Given the description of an element on the screen output the (x, y) to click on. 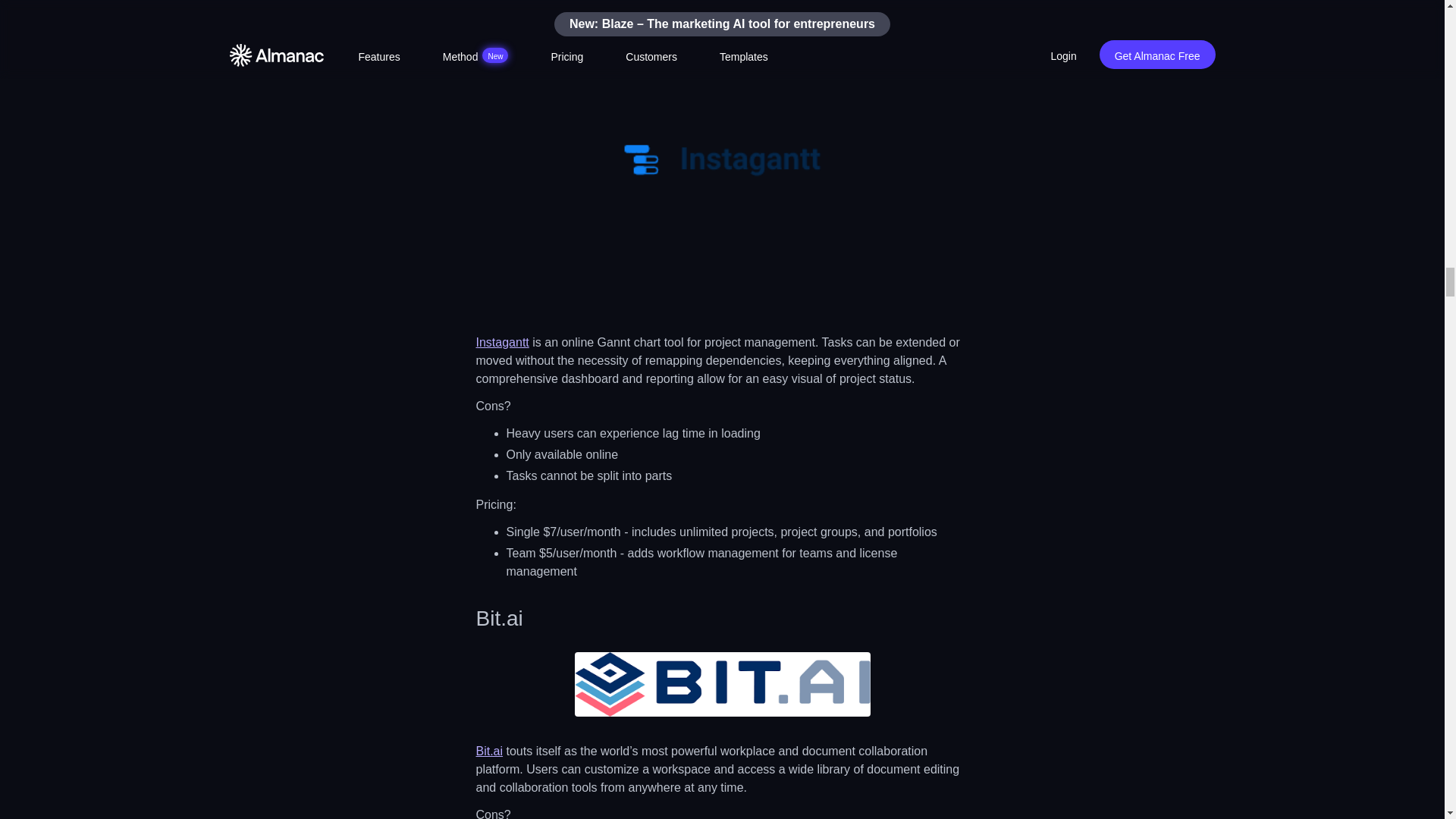
Instagantt (502, 341)
Bit.ai (489, 750)
